Given the description of an element on the screen output the (x, y) to click on. 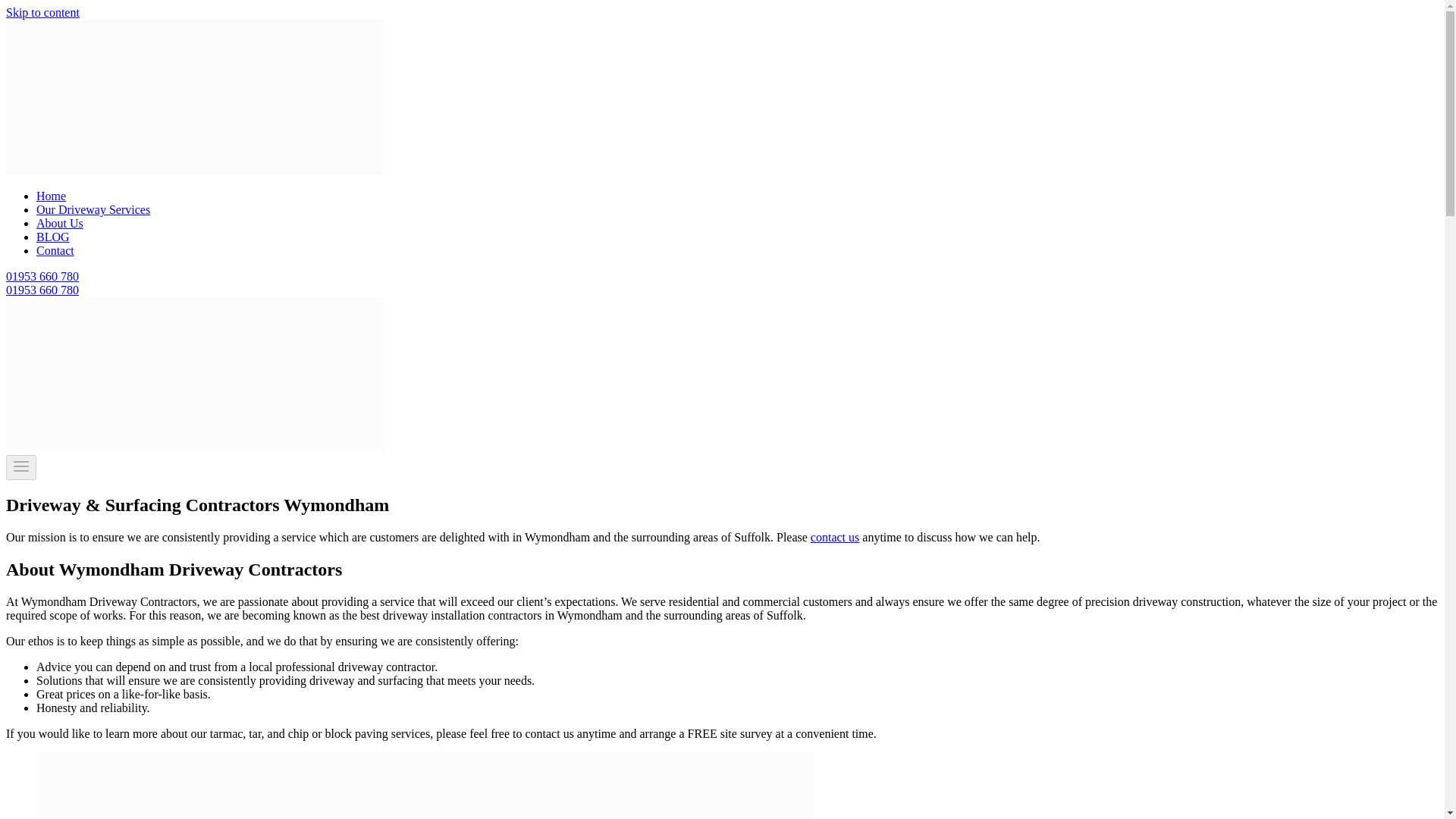
Contact (55, 250)
About Us (59, 223)
contact us (834, 536)
Skip to content (42, 11)
Toggle Menu (20, 467)
Skip to content (42, 11)
Our Driveway Services (92, 209)
Toggle Menu (20, 466)
01953 660 780 (41, 276)
Home (50, 195)
BLOG (52, 236)
01953 660 780 (41, 289)
